Given the description of an element on the screen output the (x, y) to click on. 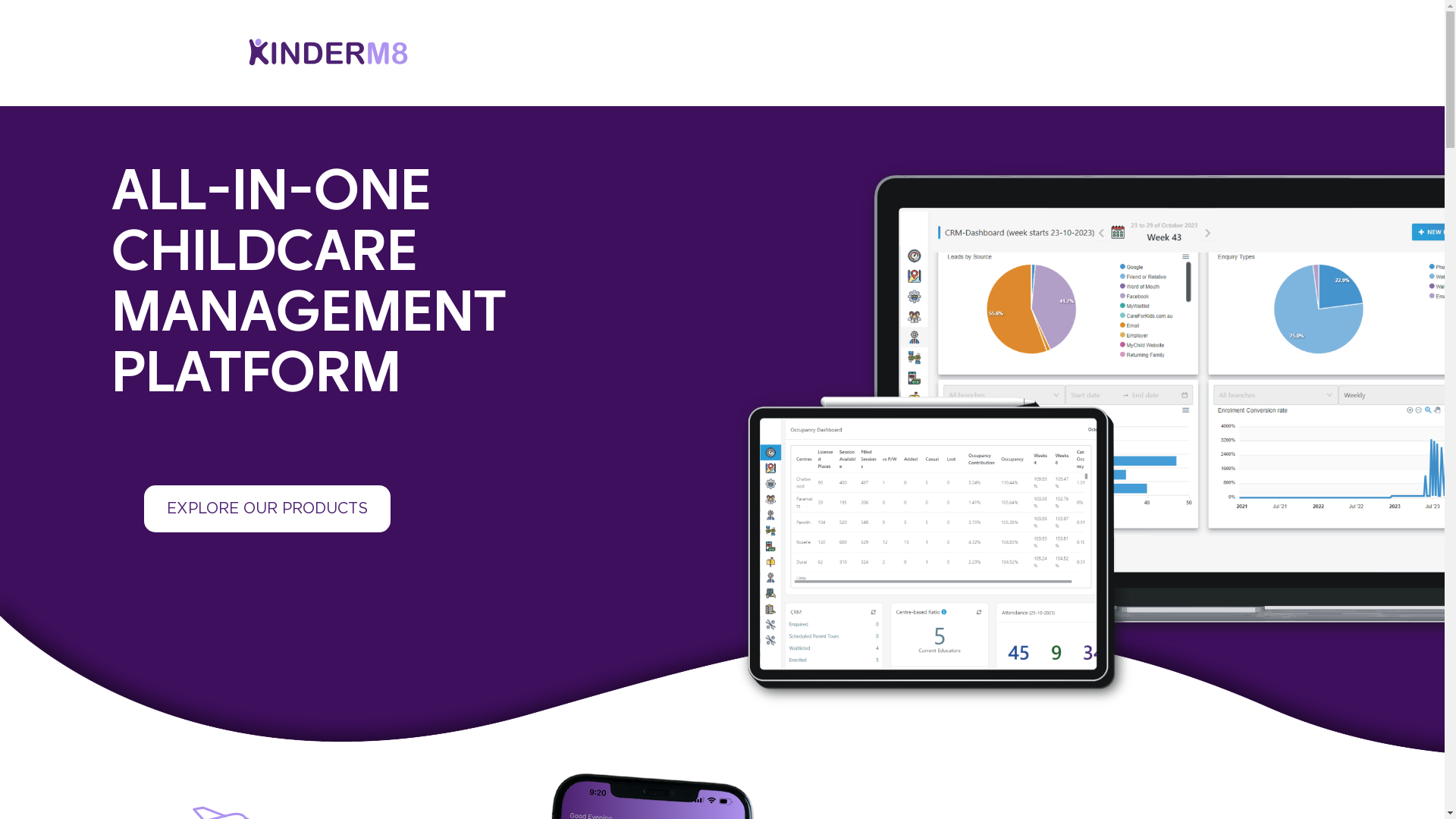
EXPLORE OUR PRODUCTS Element type: text (267, 508)
